Given the description of an element on the screen output the (x, y) to click on. 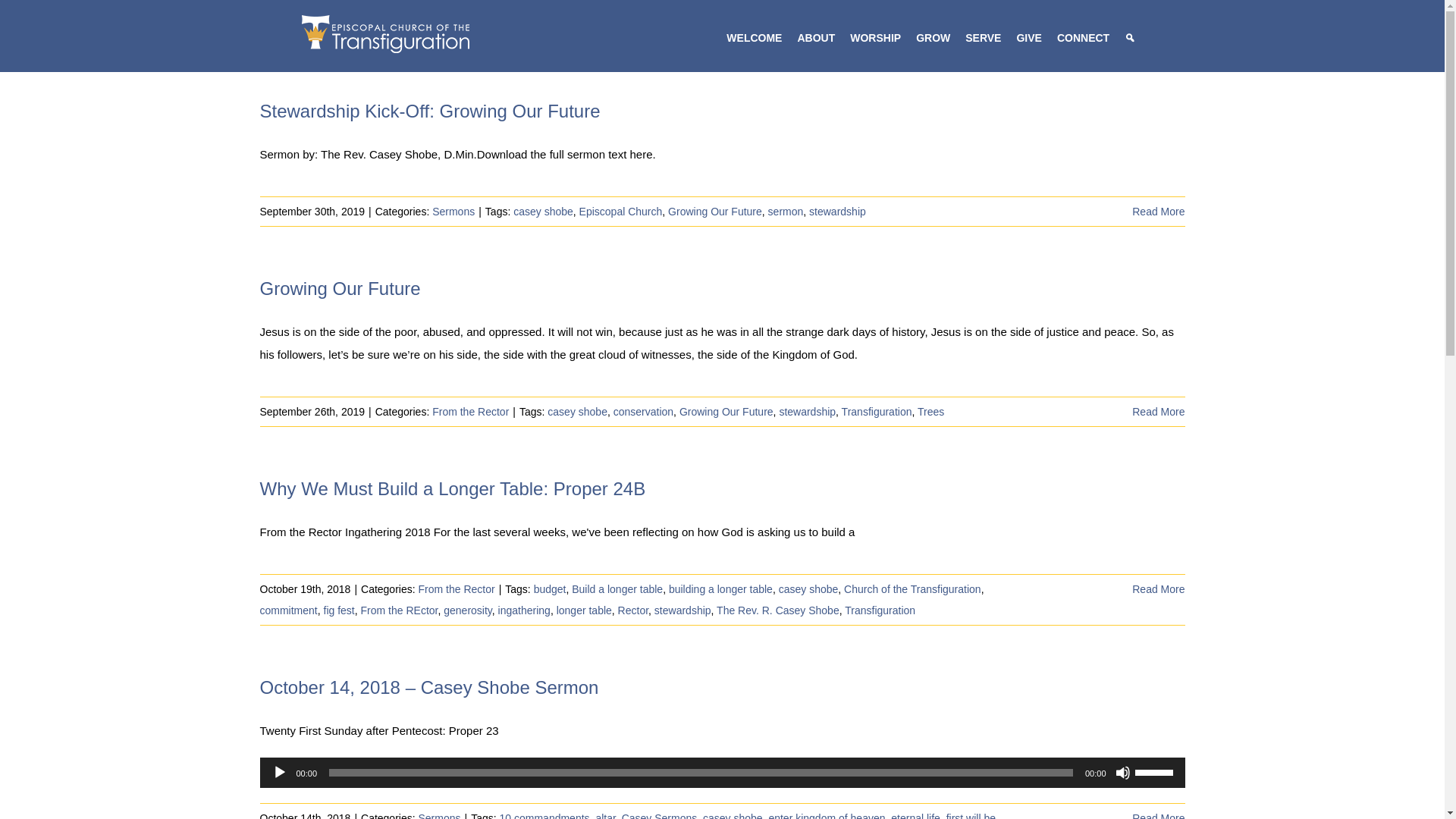
Play (278, 772)
WELCOME (754, 37)
Mute (1122, 772)
ABOUT (816, 37)
GROW (933, 37)
WORSHIP (875, 37)
